Given the description of an element on the screen output the (x, y) to click on. 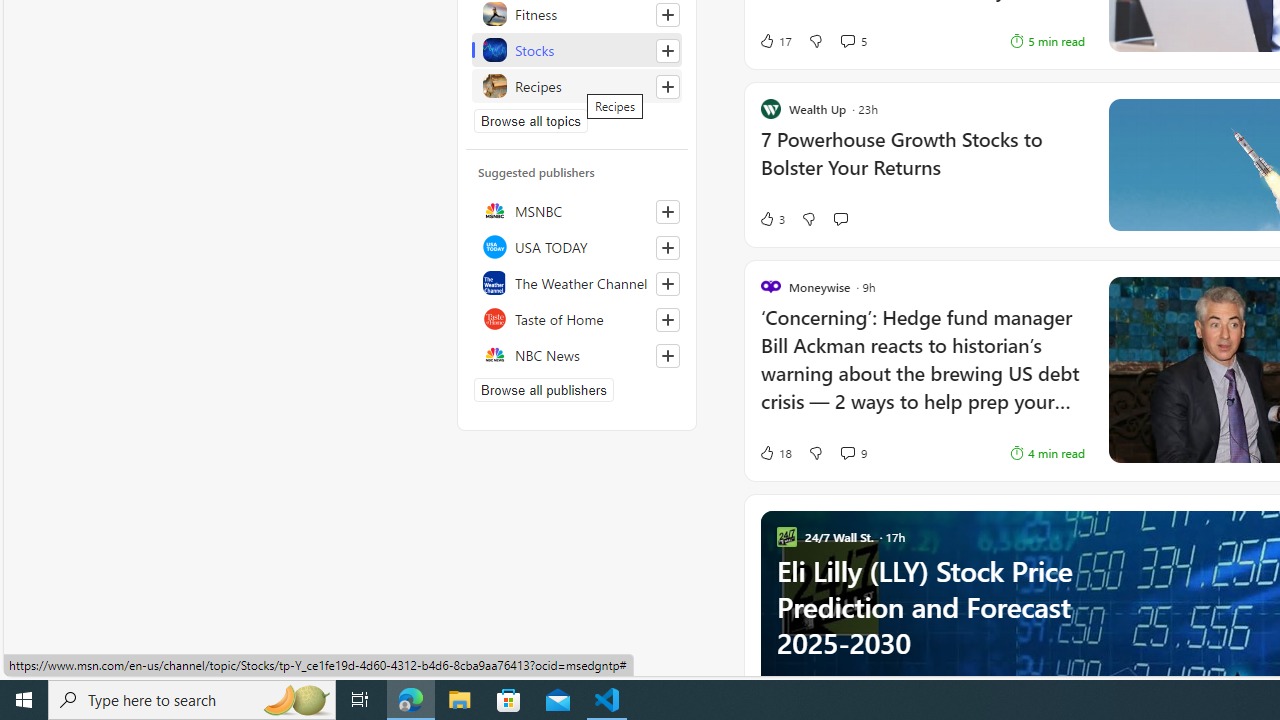
Taste of Home (577, 318)
View comments 5 Comment (852, 40)
View comments 9 Comment (847, 452)
Follow this topic (667, 86)
7 Powerhouse Growth Stocks to Bolster Your Returns (922, 164)
Recipes (577, 85)
3 Like (771, 219)
